Given the description of an element on the screen output the (x, y) to click on. 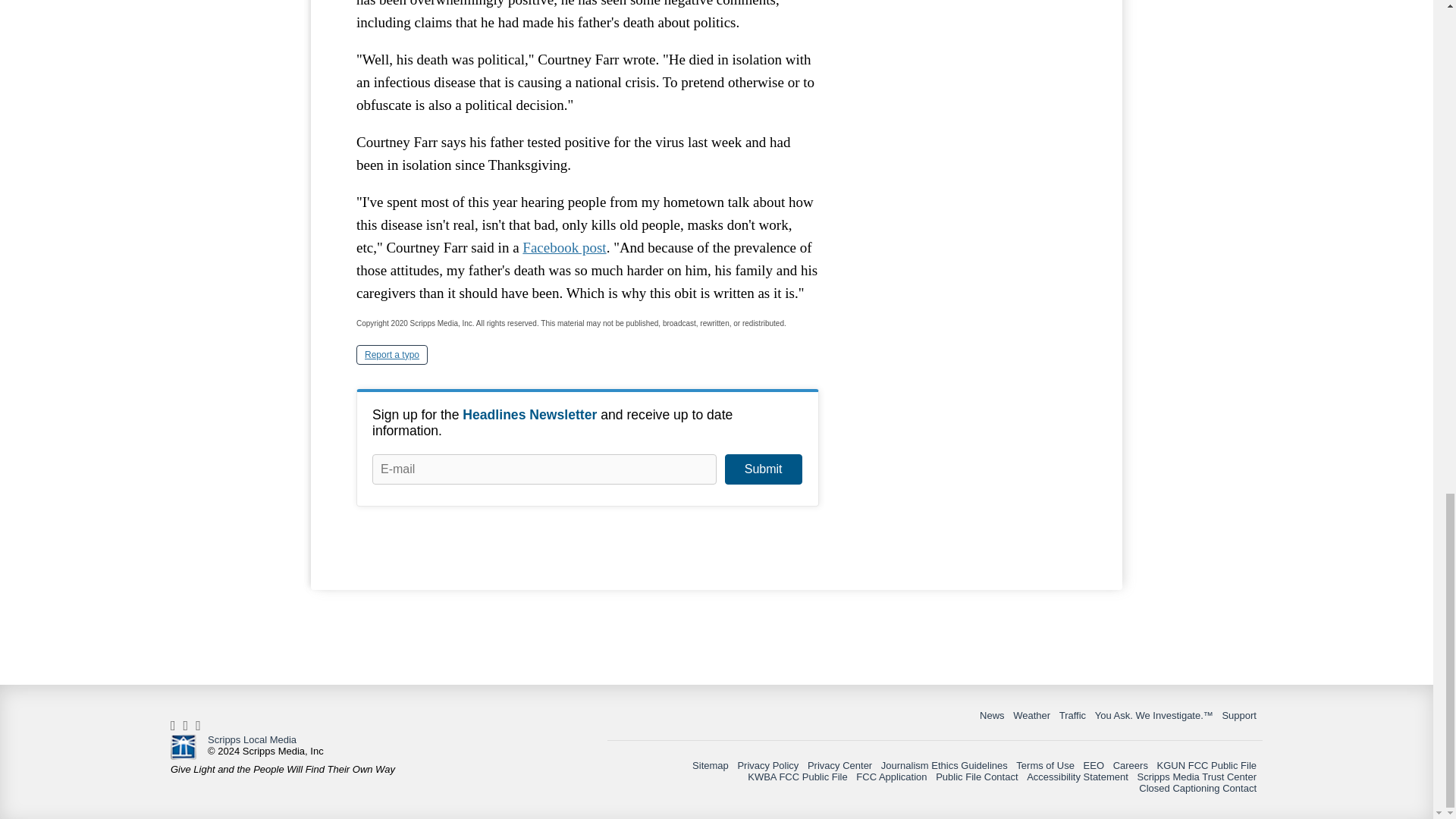
Submit (763, 469)
